Given the description of an element on the screen output the (x, y) to click on. 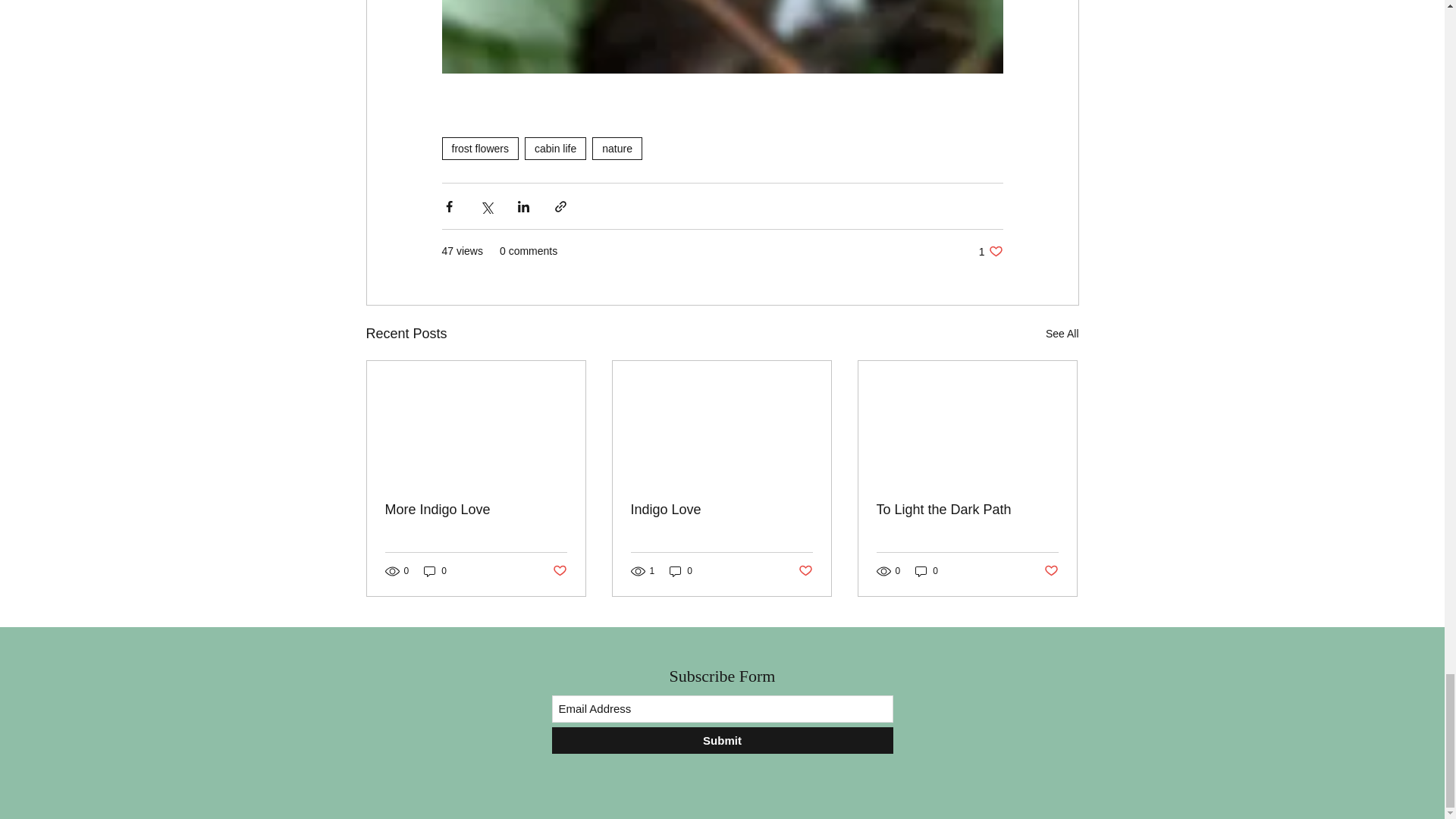
Post not marked as liked (804, 571)
More Indigo Love (476, 509)
Post not marked as liked (558, 571)
See All (1061, 333)
nature (617, 148)
0 (681, 571)
cabin life (555, 148)
0 (435, 571)
Indigo Love (721, 509)
frost flowers (479, 148)
